Given the description of an element on the screen output the (x, y) to click on. 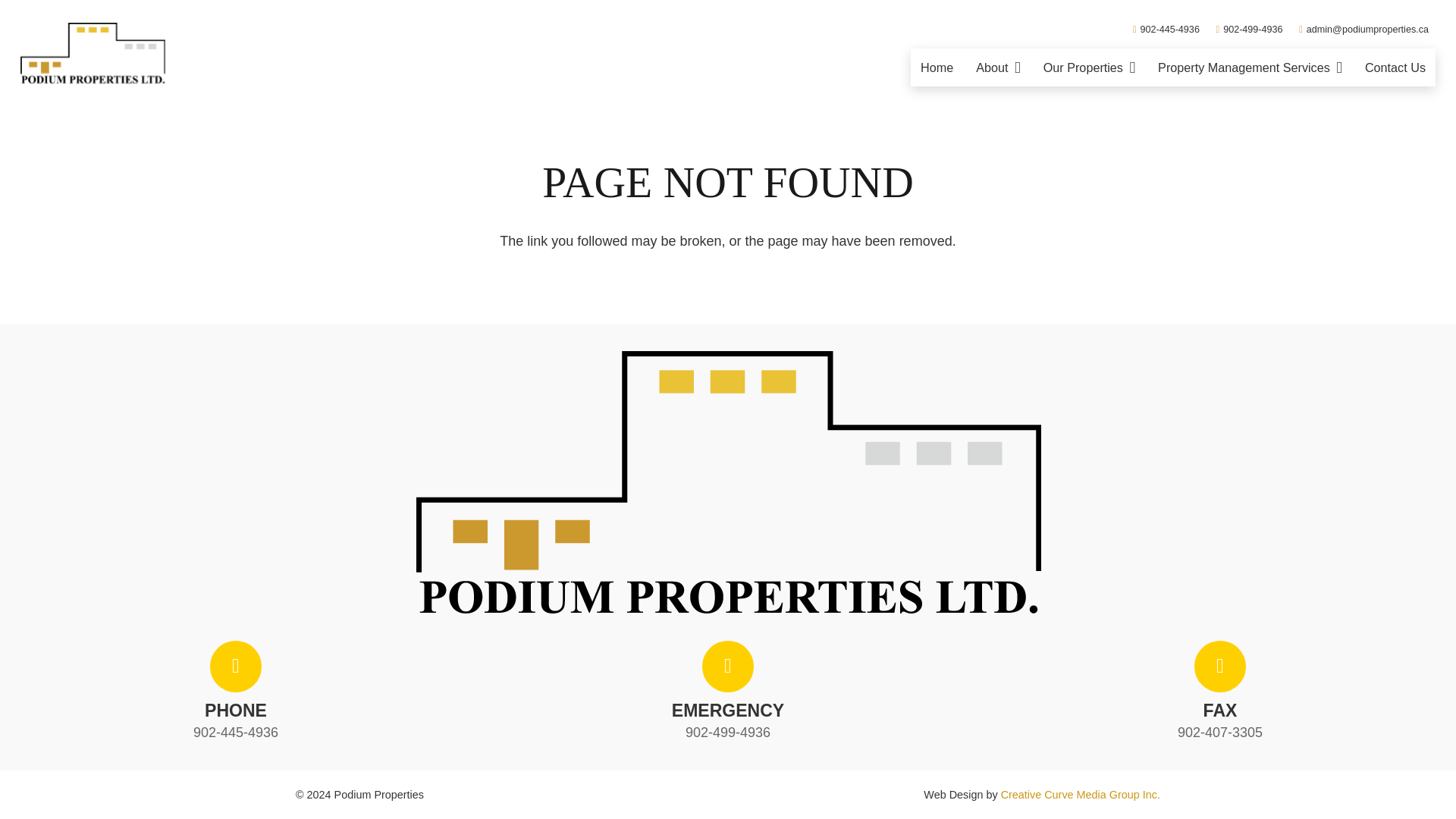
Home (935, 67)
Contact Us (1395, 67)
902-445-4936 (1165, 29)
902-499-4936 (727, 732)
902-407-3305 (1219, 732)
PHONE (235, 706)
Our Properties (1089, 67)
902-499-4936 (1248, 29)
EMERGENCY (727, 706)
Creative Curve Media Group Inc. (1080, 794)
Property Management Services (1250, 67)
About (996, 67)
902-445-4936 (235, 732)
